Given the description of an element on the screen output the (x, y) to click on. 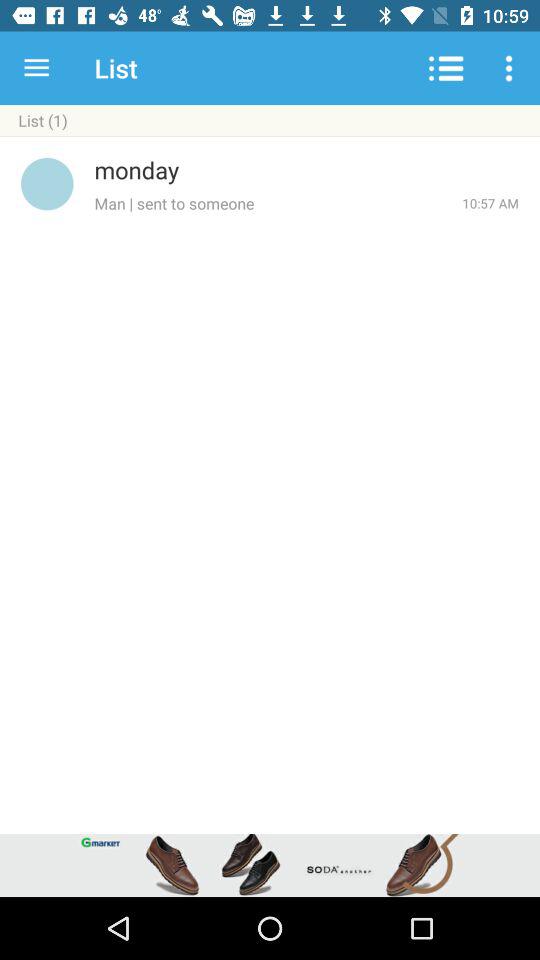
swipe to list (1) icon (270, 120)
